Given the description of an element on the screen output the (x, y) to click on. 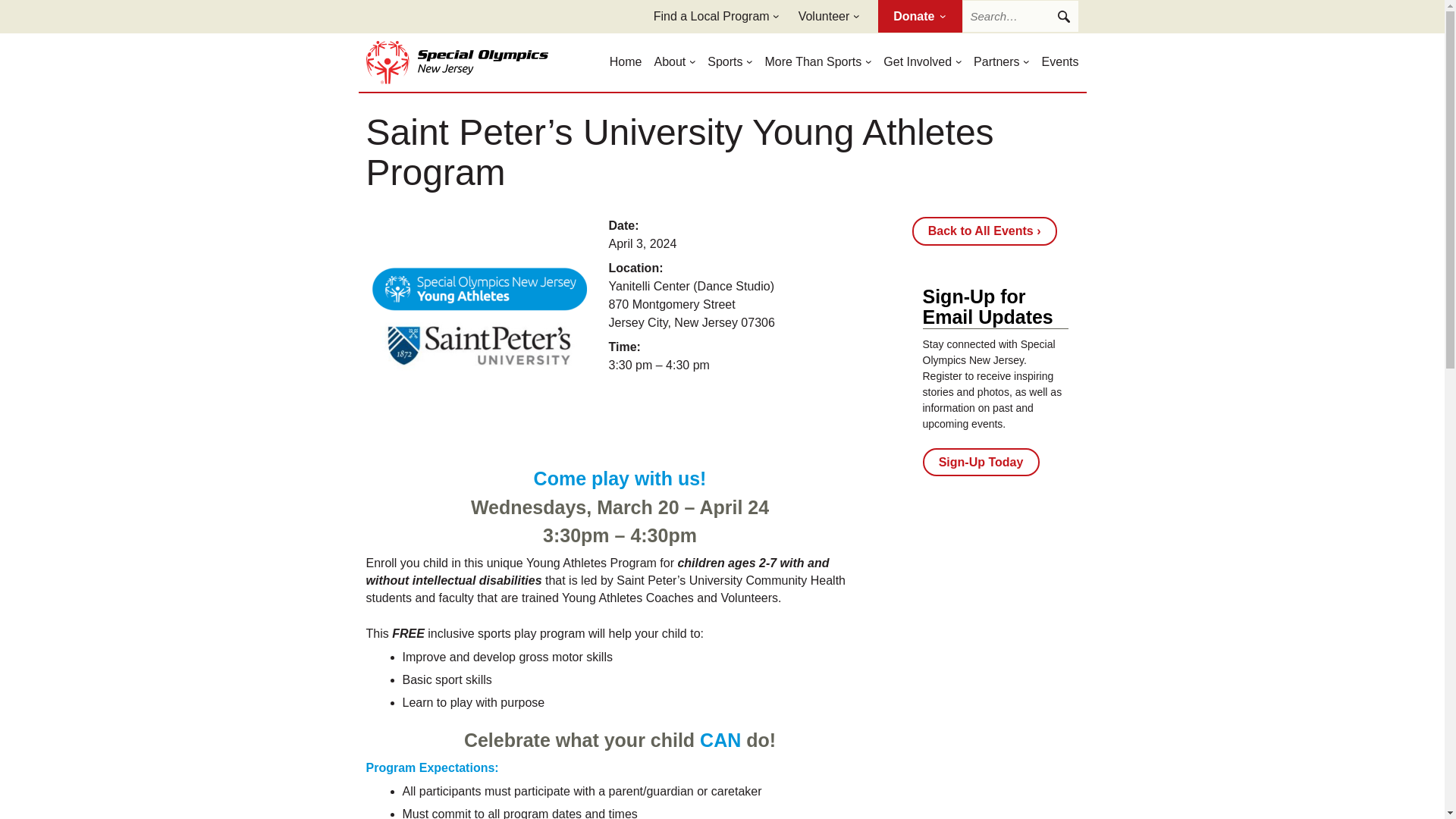
Search (1062, 16)
Search (1062, 16)
Find a Local Program (711, 17)
Search (1062, 16)
Search for: (1019, 16)
